Given the description of an element on the screen output the (x, y) to click on. 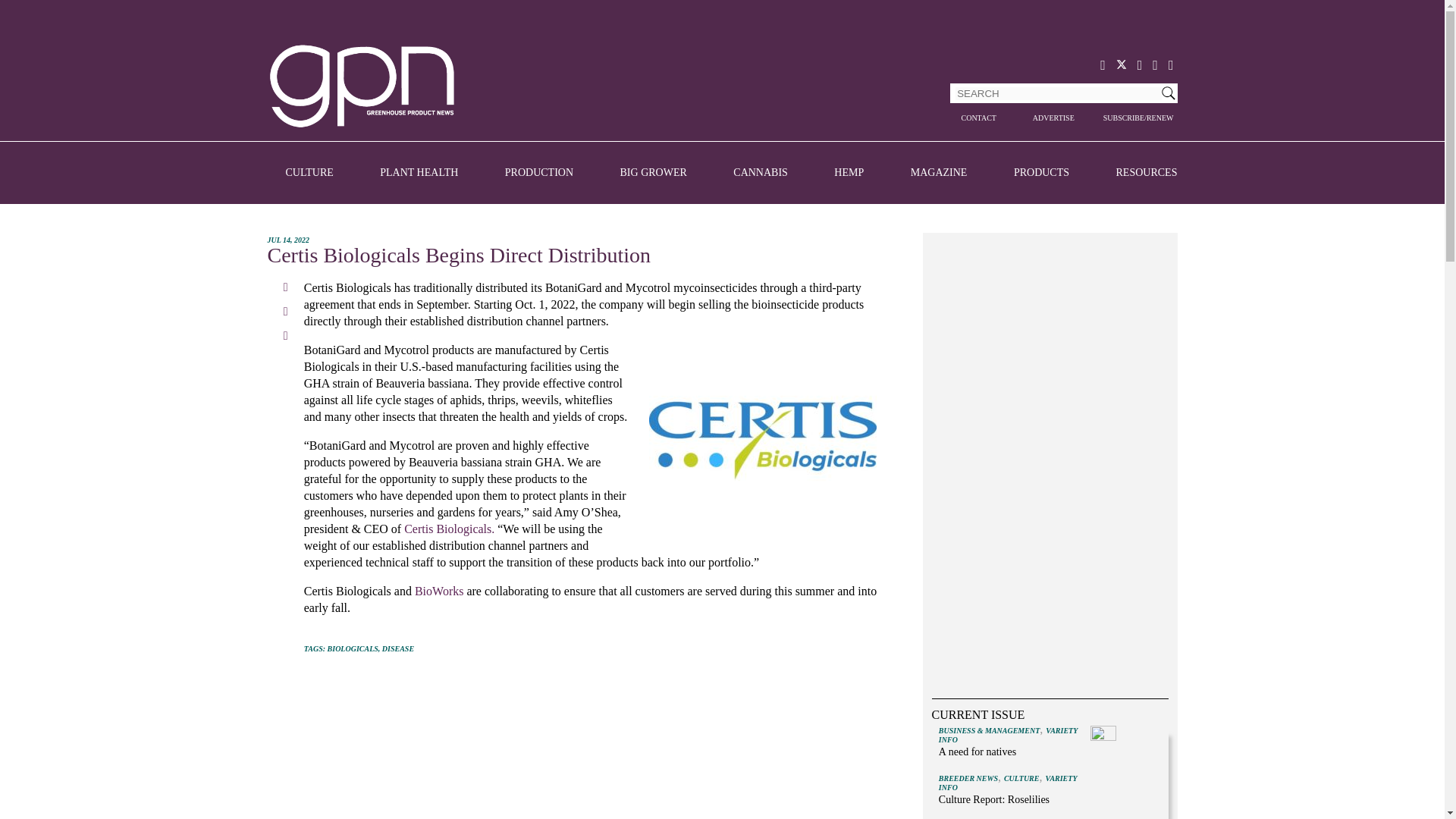
CONTACT (977, 117)
ADVERTISE (1053, 117)
CULTURE (309, 172)
BIG GROWER (653, 172)
CANNABIS (760, 172)
PLANT HEALTH (419, 172)
PRODUCTION (539, 172)
